Given the description of an element on the screen output the (x, y) to click on. 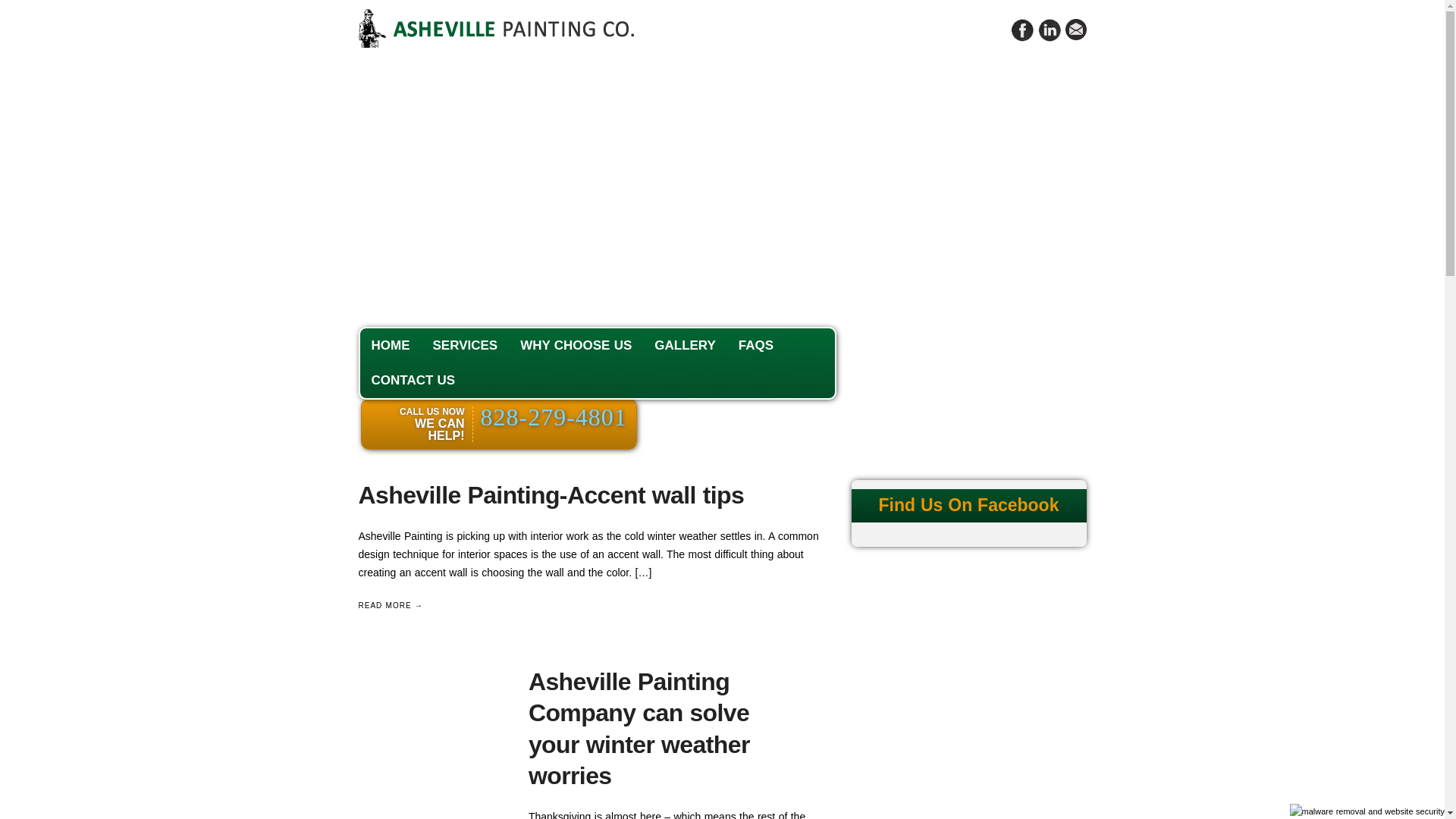
FAQS (755, 345)
HOME (389, 345)
Asheville Painting-Accent wall tips (551, 494)
Asheville Painting-Accent wall tips (551, 494)
WHY CHOOSE US (575, 345)
CONTACT US (412, 380)
SERVICES (465, 345)
GALLERY (684, 345)
